Given the description of an element on the screen output the (x, y) to click on. 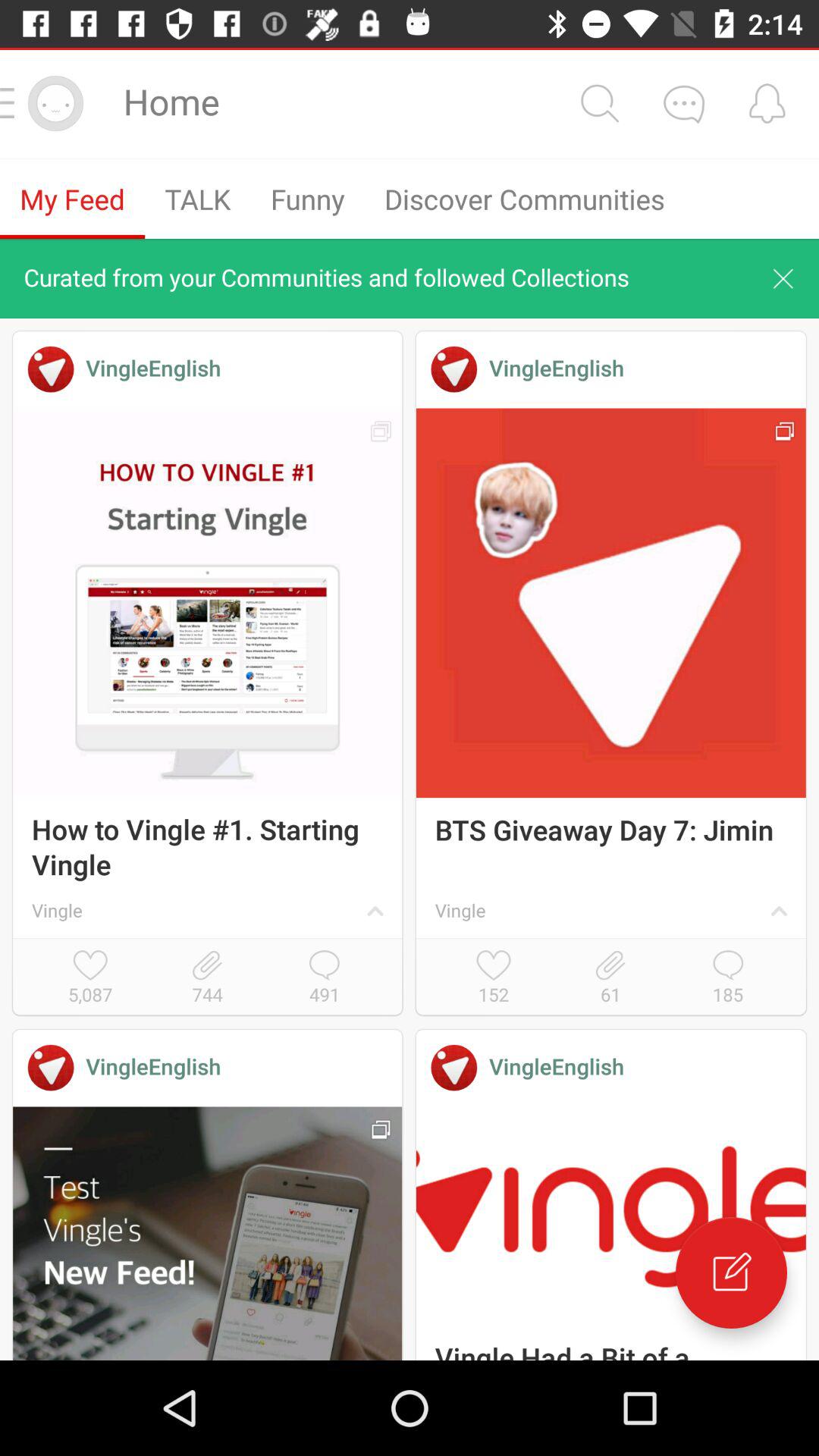
cancel (783, 278)
